Given the description of an element on the screen output the (x, y) to click on. 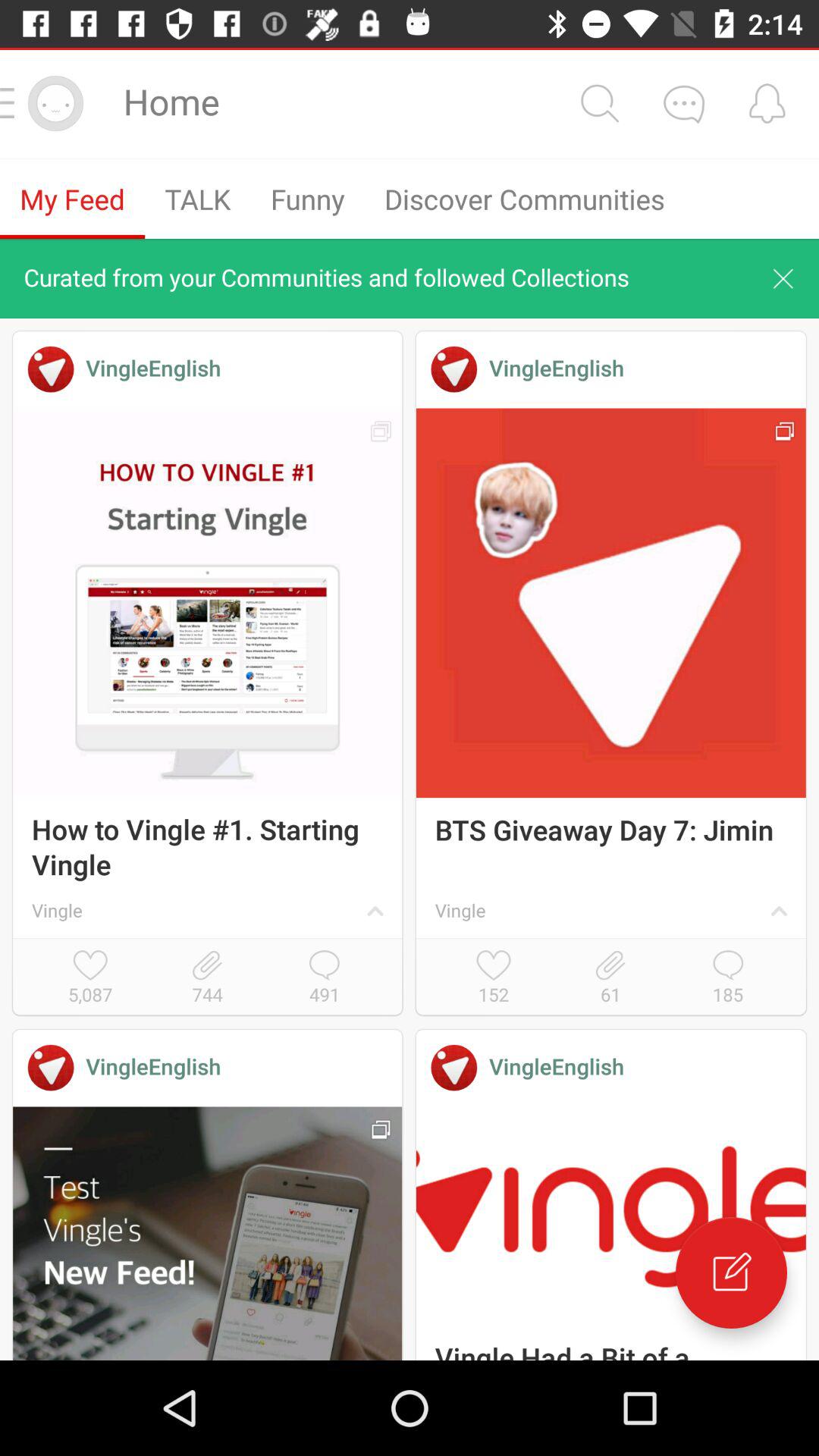
cancel (783, 278)
